Given the description of an element on the screen output the (x, y) to click on. 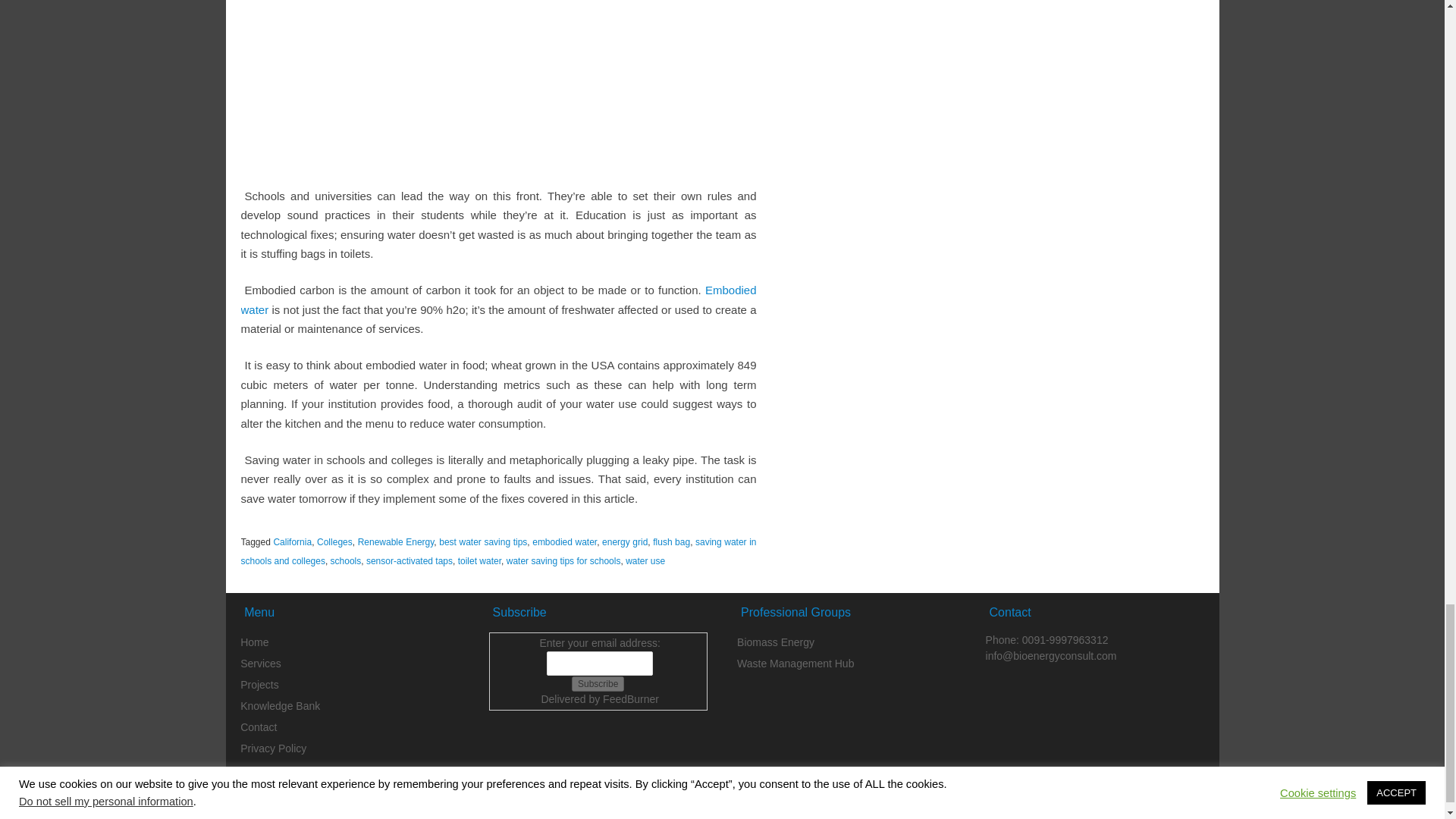
sensor-activated taps (409, 561)
Renewable Energy (395, 542)
best water saving tips (483, 542)
flush bag (671, 542)
Subscribe (598, 683)
California (292, 542)
Colleges (334, 542)
schools (345, 561)
Embodied water (499, 299)
energy grid (624, 542)
